Given the description of an element on the screen output the (x, y) to click on. 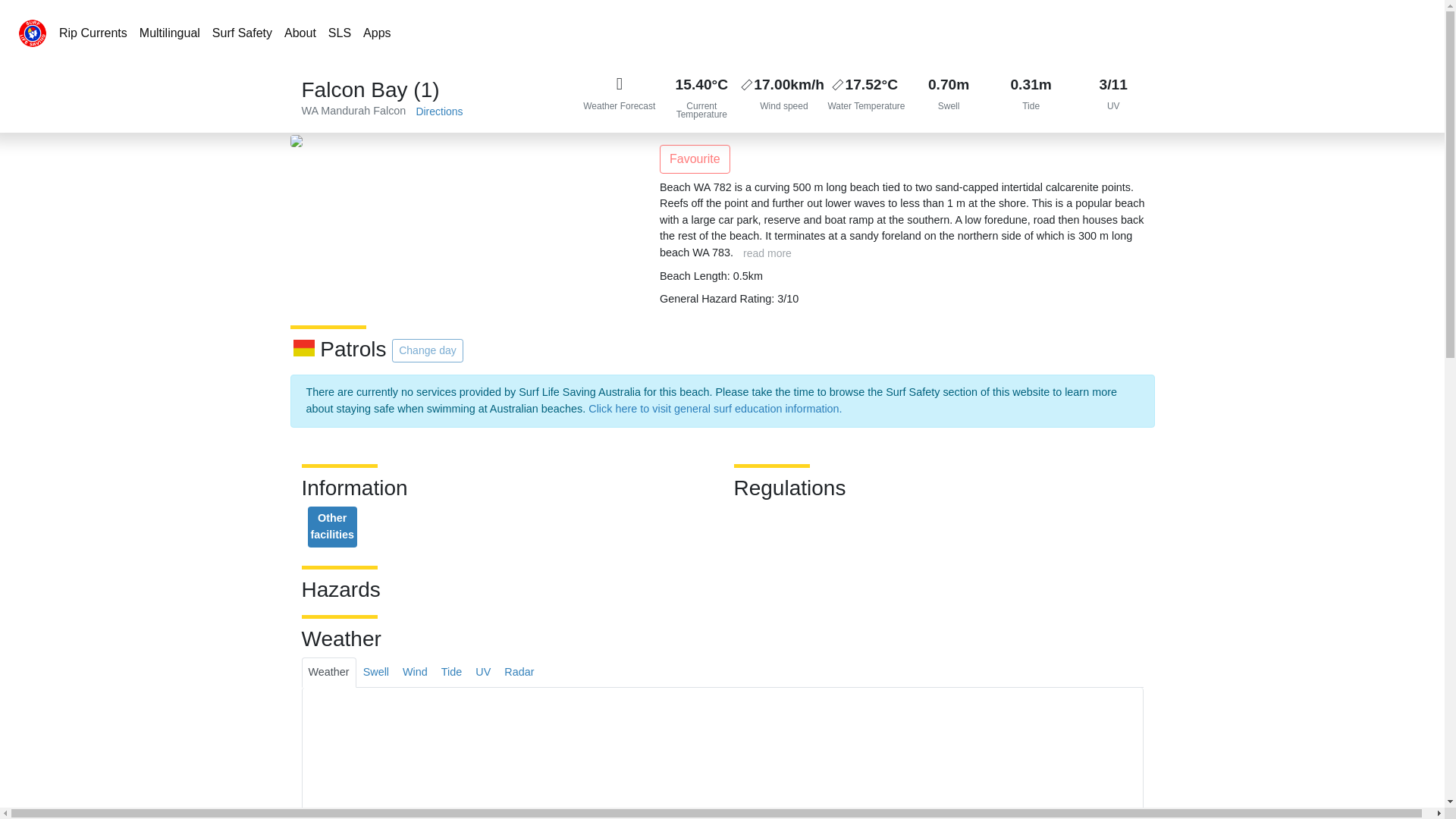
Air Temperature (701, 96)
Click here to visit general surf education information. (714, 408)
Multilingual (169, 33)
Swell (948, 96)
UV (1112, 96)
Surf Safety (242, 33)
Mandurah (344, 110)
Directions (438, 111)
WA (309, 110)
Falcon (389, 110)
read more (766, 253)
About (299, 33)
Wind Speed (783, 96)
Swell (376, 672)
Weather (328, 672)
